Given the description of an element on the screen output the (x, y) to click on. 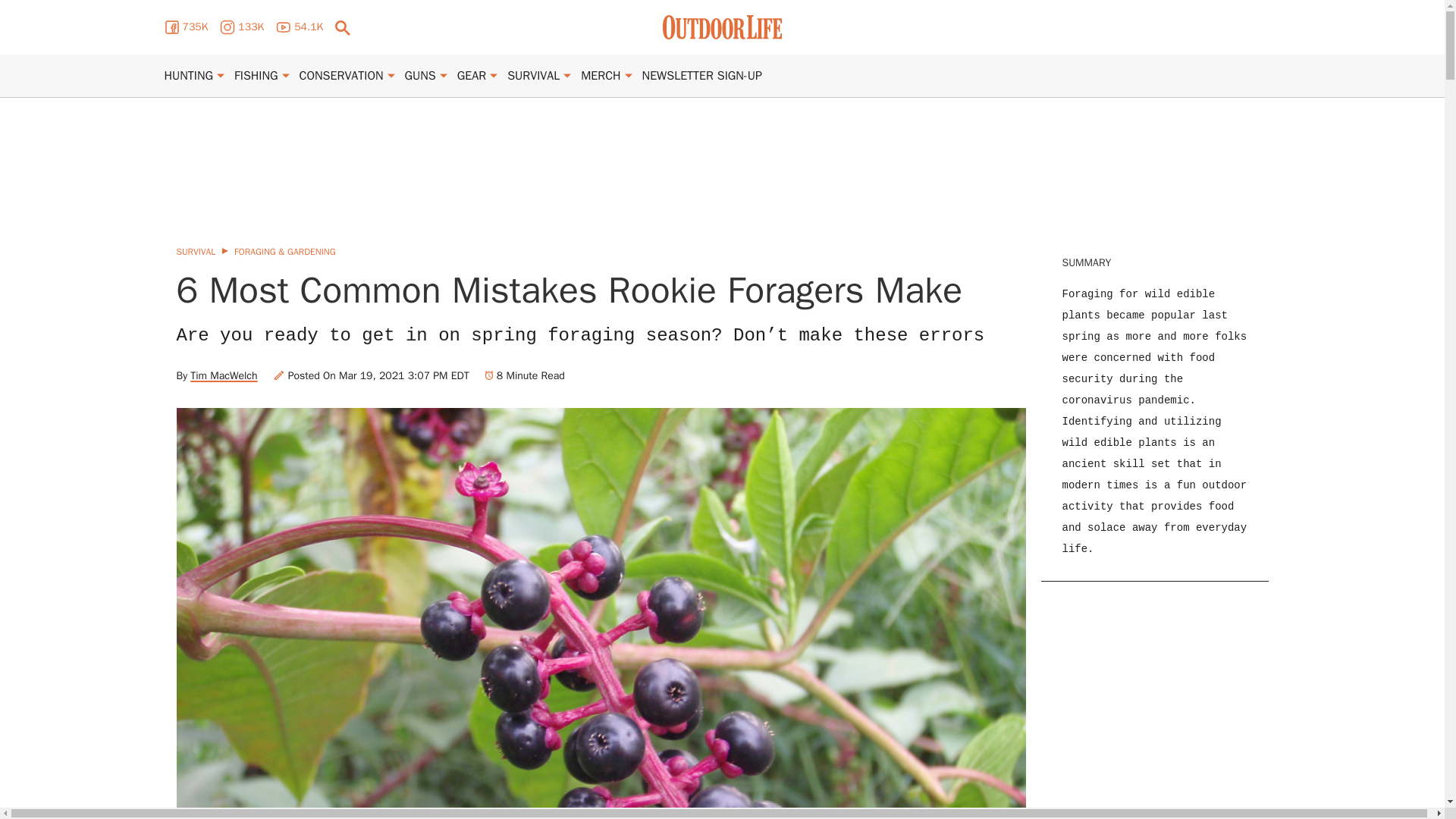
Fishing (256, 75)
Merch (600, 75)
Conservation (341, 75)
Guns (419, 75)
Gear (471, 75)
Survival (532, 75)
Newsletter Sign-up (701, 75)
Hunting (187, 75)
